Given the description of an element on the screen output the (x, y) to click on. 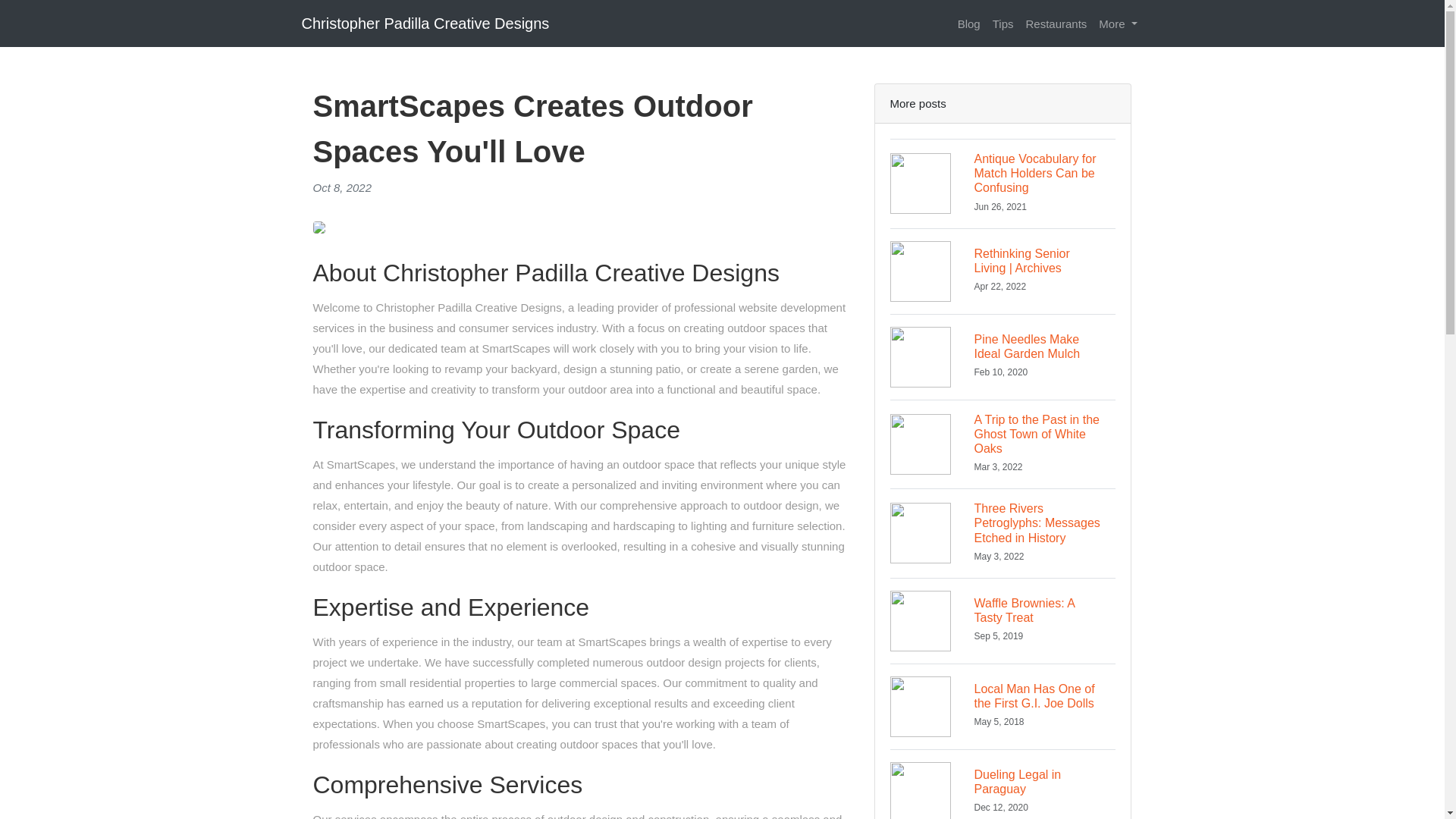
Blog (969, 23)
Christopher Padilla Creative Designs (425, 22)
Tips (1003, 23)
More (1002, 784)
Restaurants (1117, 23)
